Given the description of an element on the screen output the (x, y) to click on. 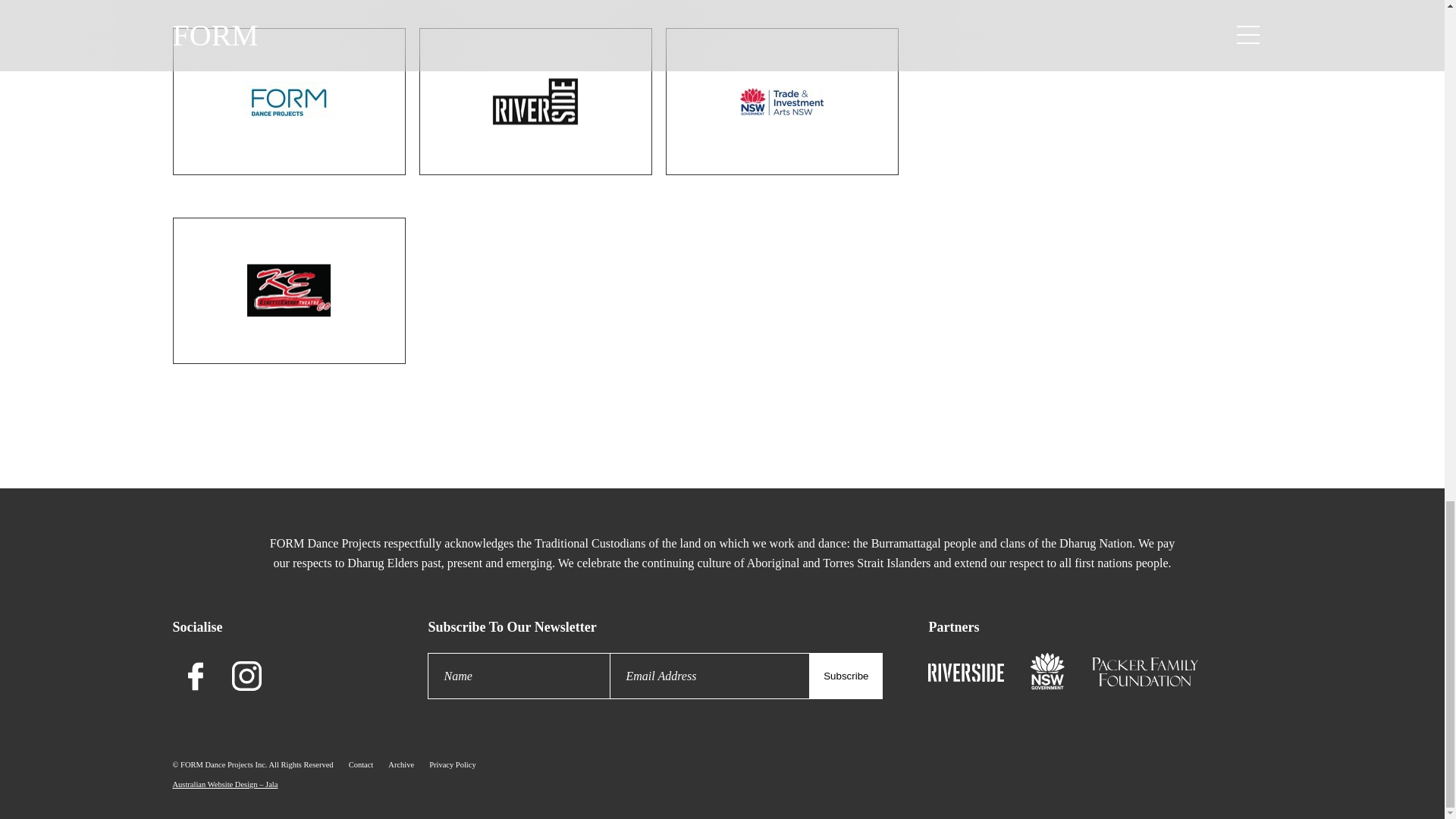
Archive (400, 764)
Privacy Policy (452, 764)
Subscribe (845, 675)
Instagram (245, 675)
Subscribe (845, 675)
Contact (361, 764)
Facebook (196, 675)
